Given the description of an element on the screen output the (x, y) to click on. 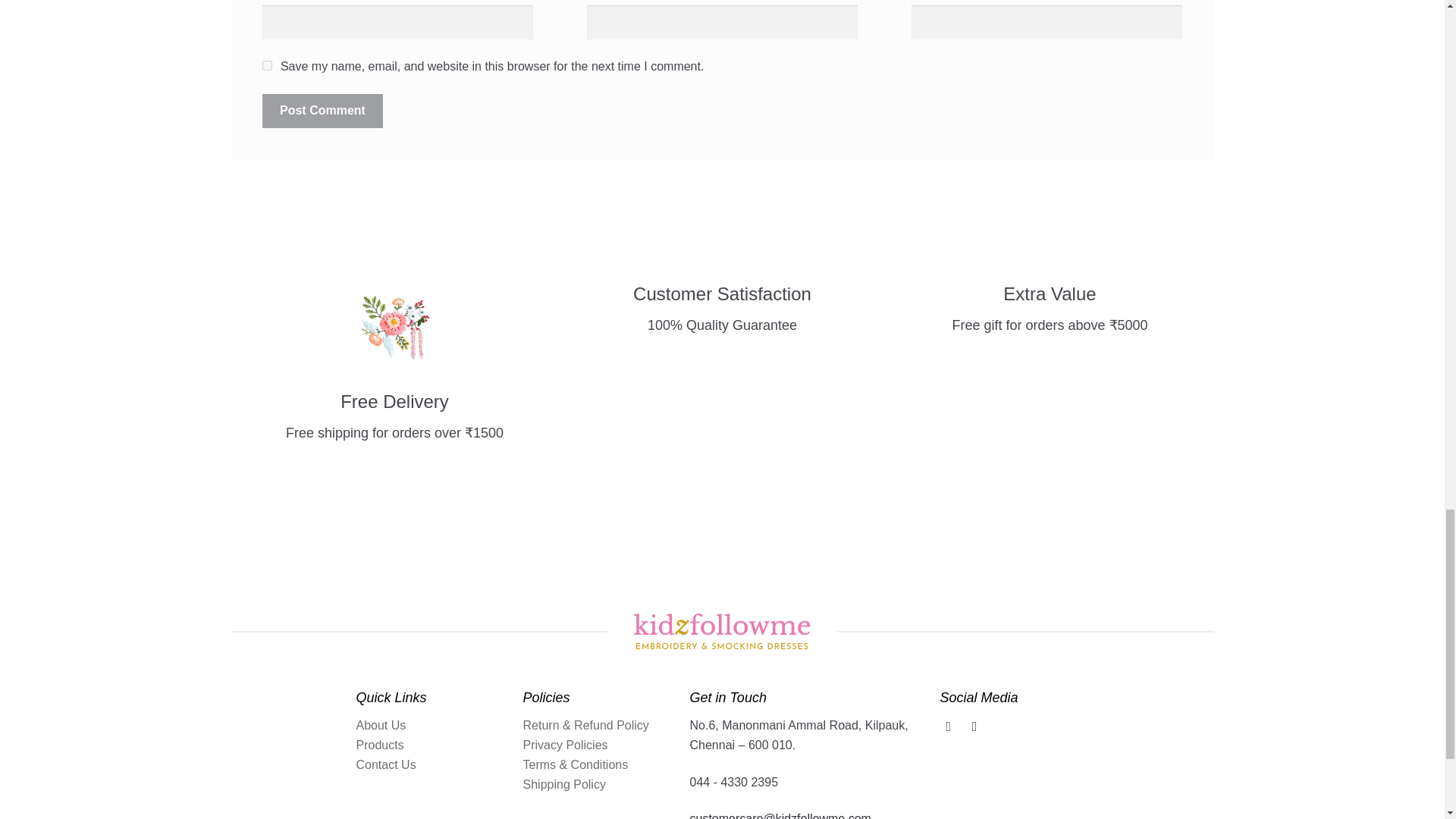
Products (380, 744)
Post Comment (321, 111)
Post Comment (321, 111)
yes (267, 65)
Shipping Policy (563, 784)
Contact Us (386, 764)
About Us (381, 725)
Privacy Policies (565, 744)
